Given the description of an element on the screen output the (x, y) to click on. 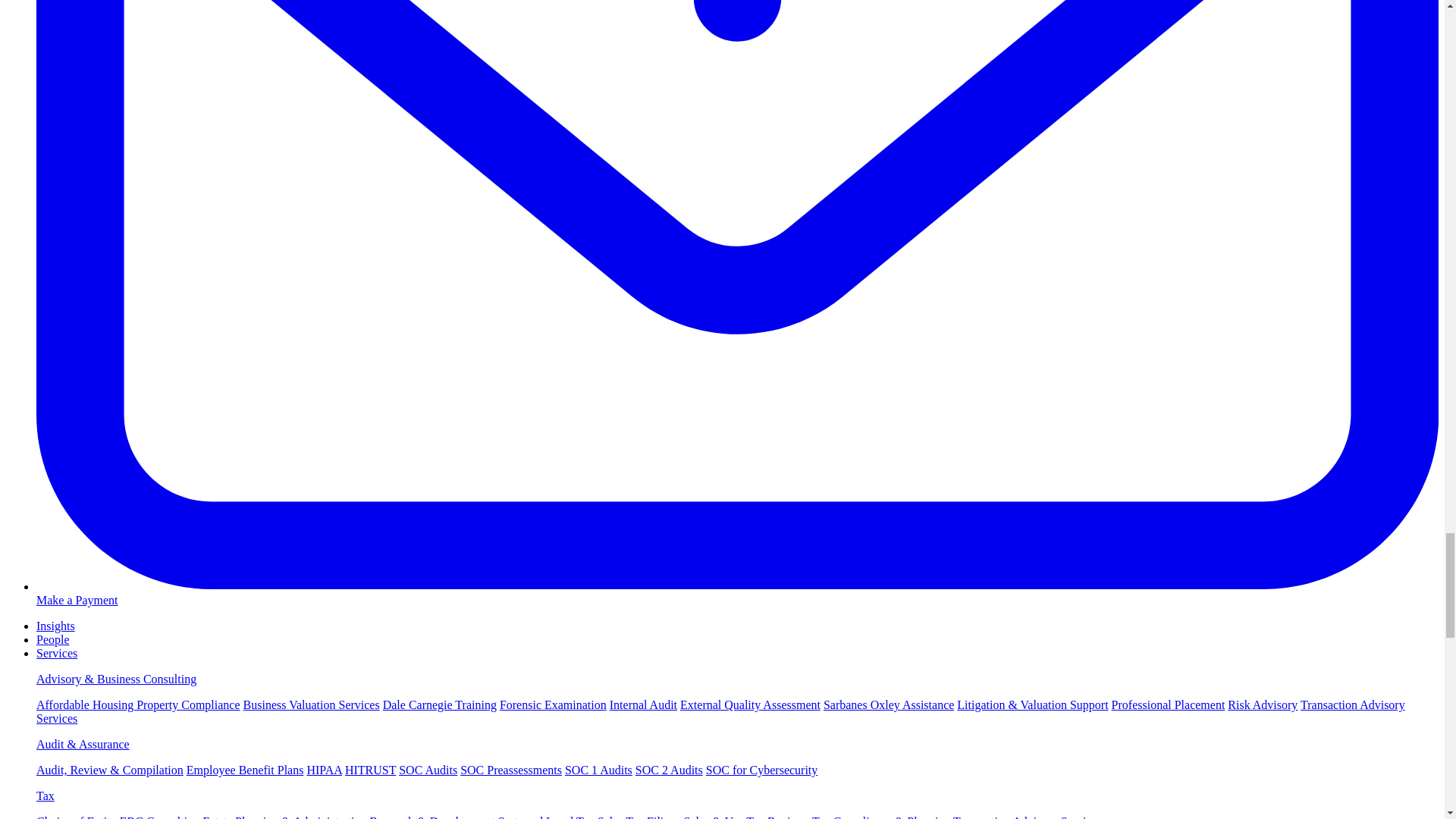
Services (56, 653)
Forensic Examination (553, 704)
Dale Carnegie Training (439, 704)
Internal Audit (643, 704)
SOC 2 Audits (668, 769)
Professional Placement (1168, 704)
SOC Audits (427, 769)
Sarbanes Oxley Assistance (888, 704)
HITRUST (370, 769)
People (52, 639)
Risk Advisory (1262, 704)
Transaction Advisory Services (720, 711)
SOC 1 Audits (597, 769)
Sales Tax Filings (638, 816)
External Quality Assessment (750, 704)
